Given the description of an element on the screen output the (x, y) to click on. 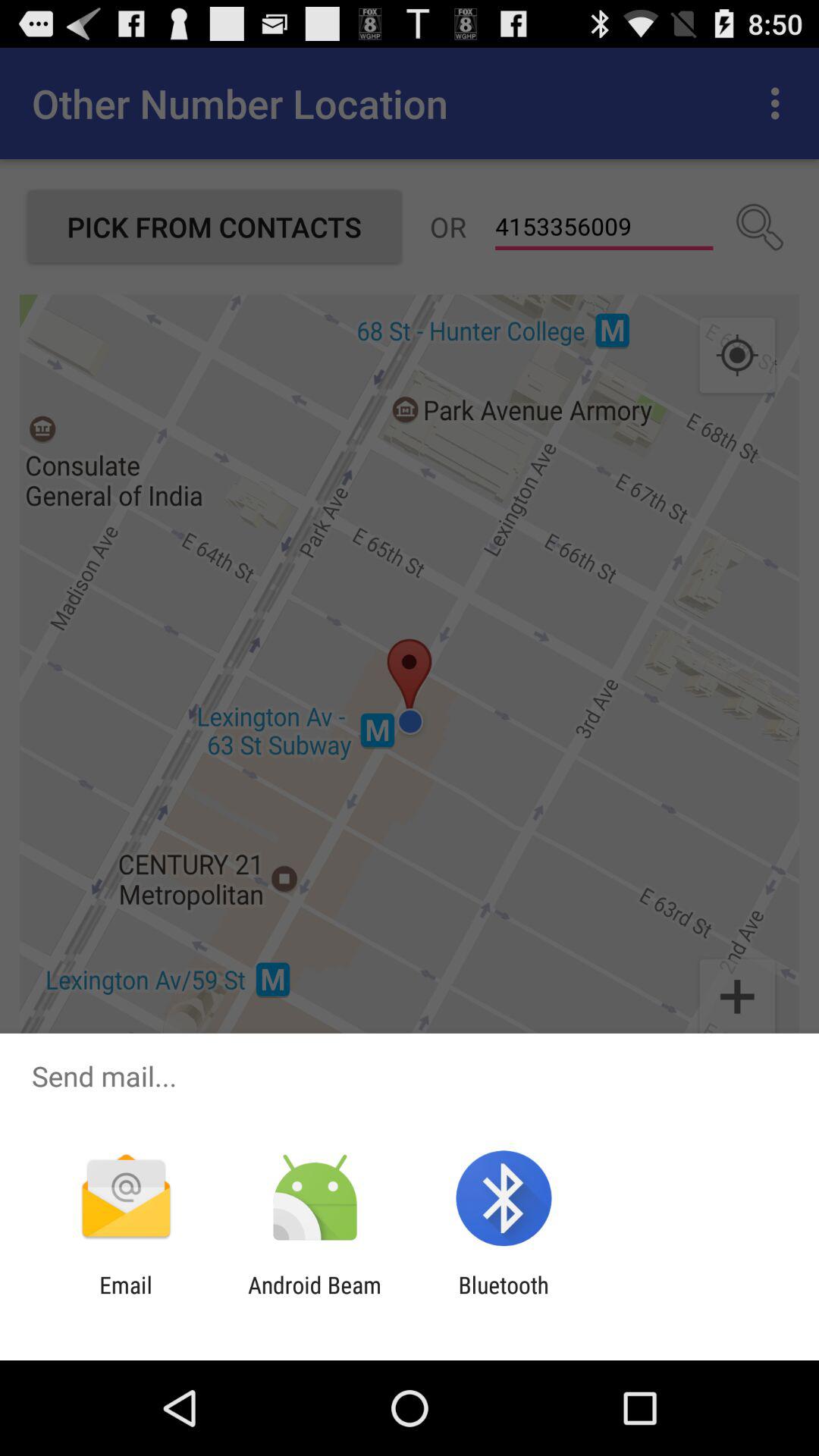
turn off icon next to android beam icon (503, 1298)
